Given the description of an element on the screen output the (x, y) to click on. 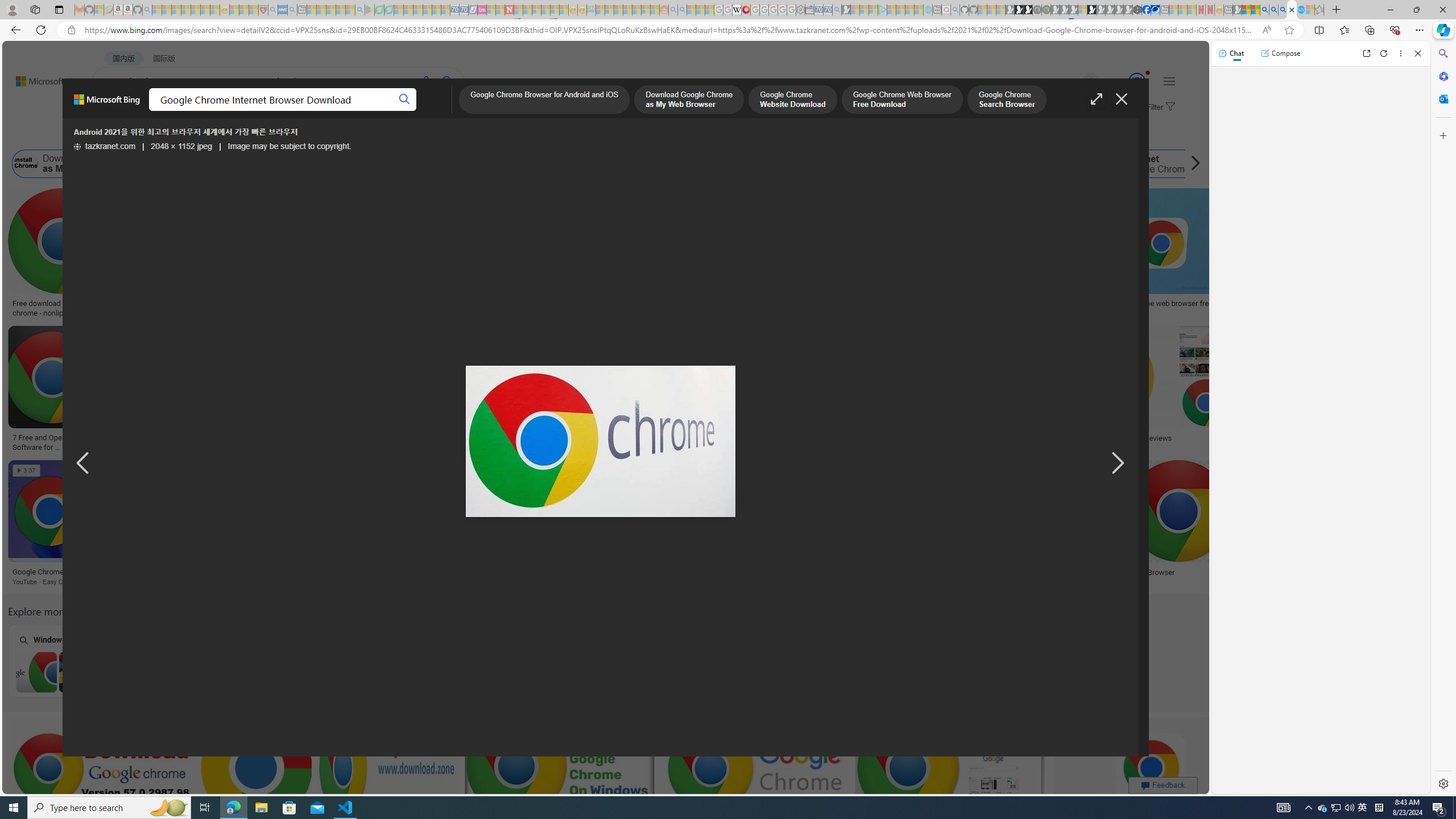
Download Google Chrome as My Web Browser (25, 163)
Microsoft Rewards 84 (1125, 81)
Future Focus Report 2024 - Sleeping (1045, 9)
Free download google chrome - nonlipat (61, 307)
Full screen (1096, 99)
